Given the description of an element on the screen output the (x, y) to click on. 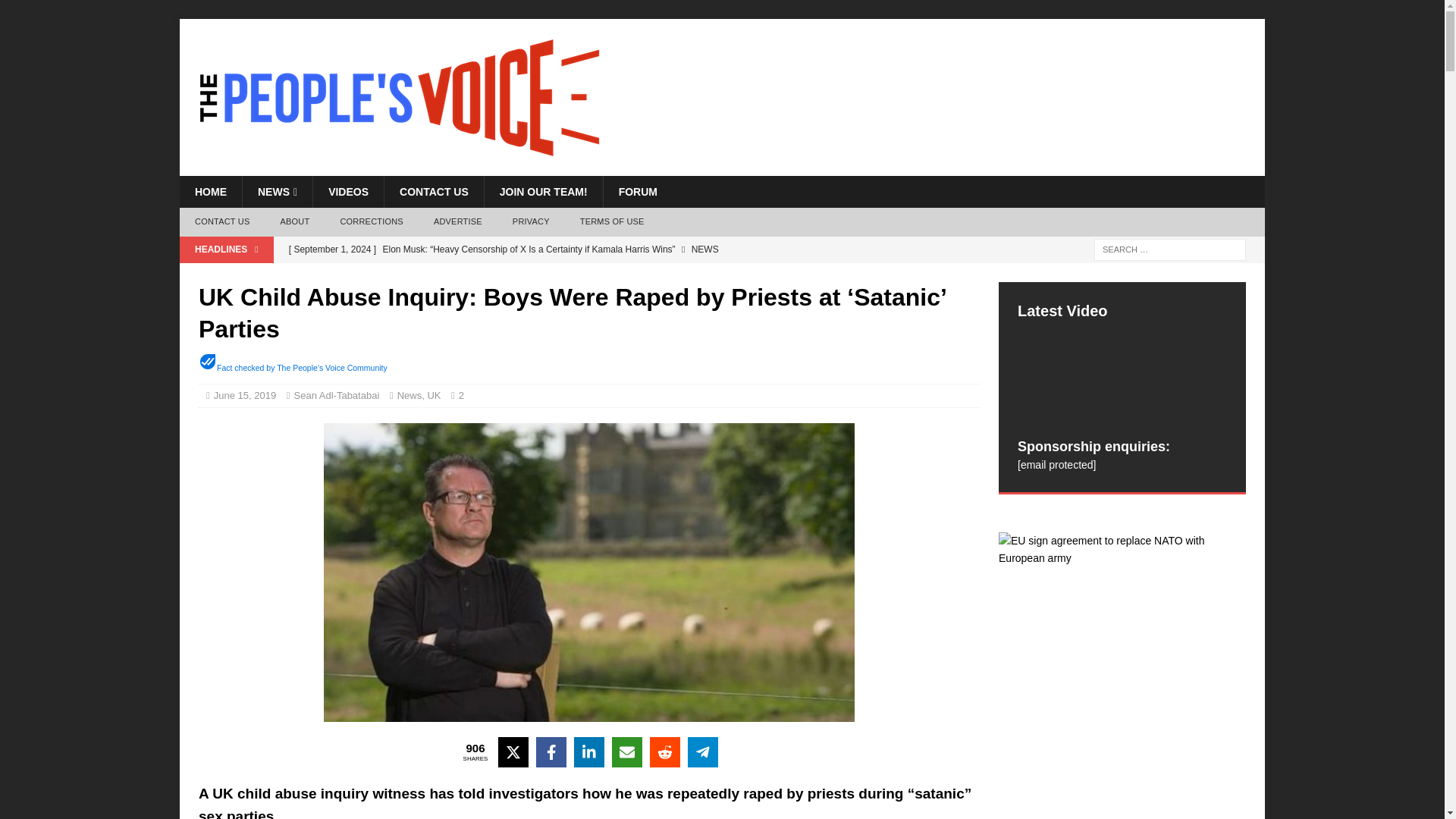
JOIN OUR TEAM! (542, 192)
VIDEOS (348, 192)
CONTACT US (221, 222)
News (409, 395)
TERMS OF USE (611, 222)
2 (464, 395)
Sean Adl-Tabatabai (337, 395)
CONTACT US (433, 192)
June 15, 2019 (245, 395)
PRIVACY (530, 222)
